Given the description of an element on the screen output the (x, y) to click on. 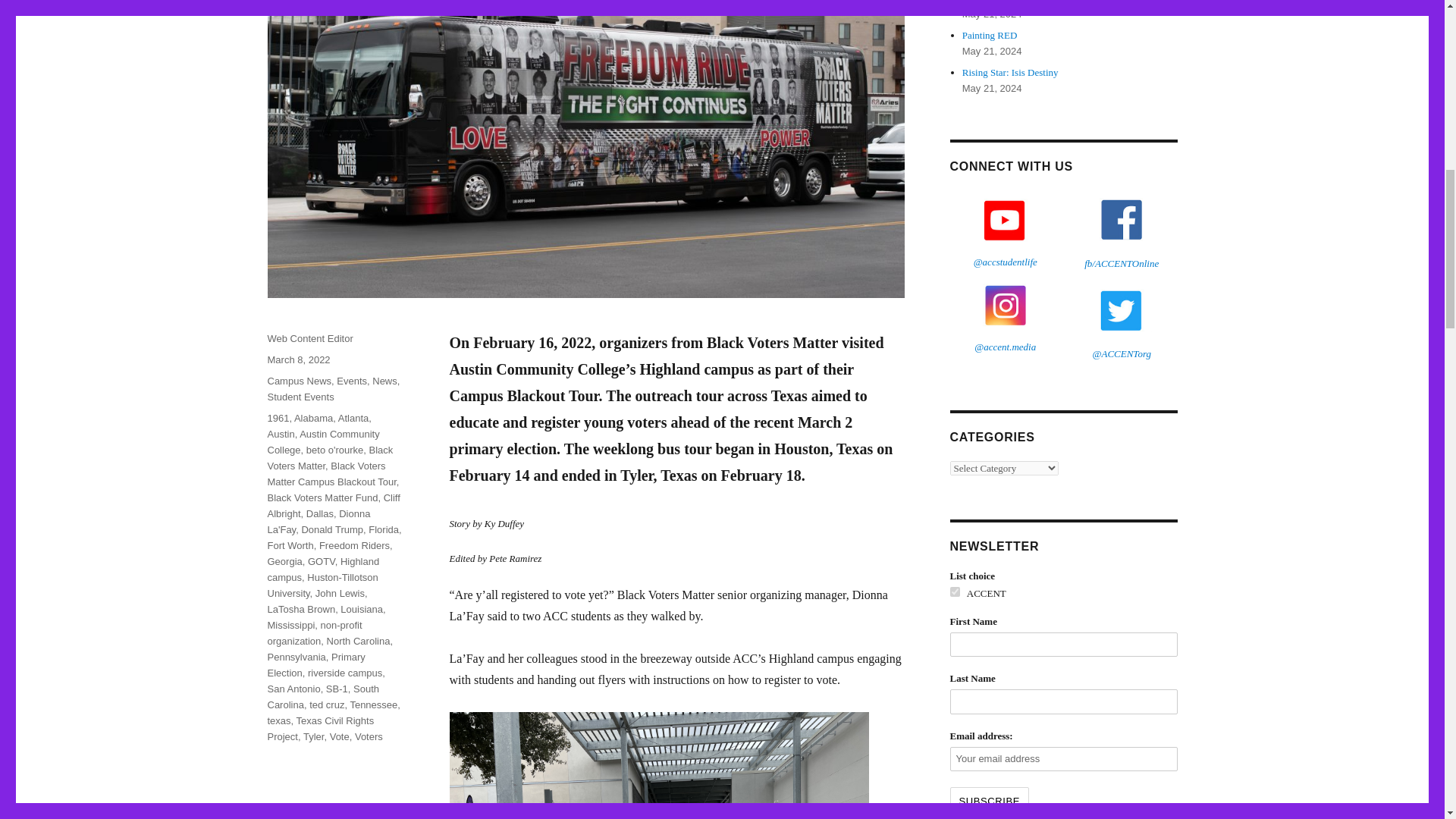
March 8, 2022 (298, 359)
News (384, 380)
Campus News (298, 380)
Alabama (313, 418)
beto o'rourke (333, 449)
Austin Community College (322, 441)
20e1b1bca0 (954, 592)
Subscribe (989, 800)
Black Voters Matter Fund (321, 497)
Events (351, 380)
1961 (277, 418)
Austin (280, 433)
Dionna La'Fay (317, 521)
Dallas (319, 513)
Student Events (299, 396)
